Given the description of an element on the screen output the (x, y) to click on. 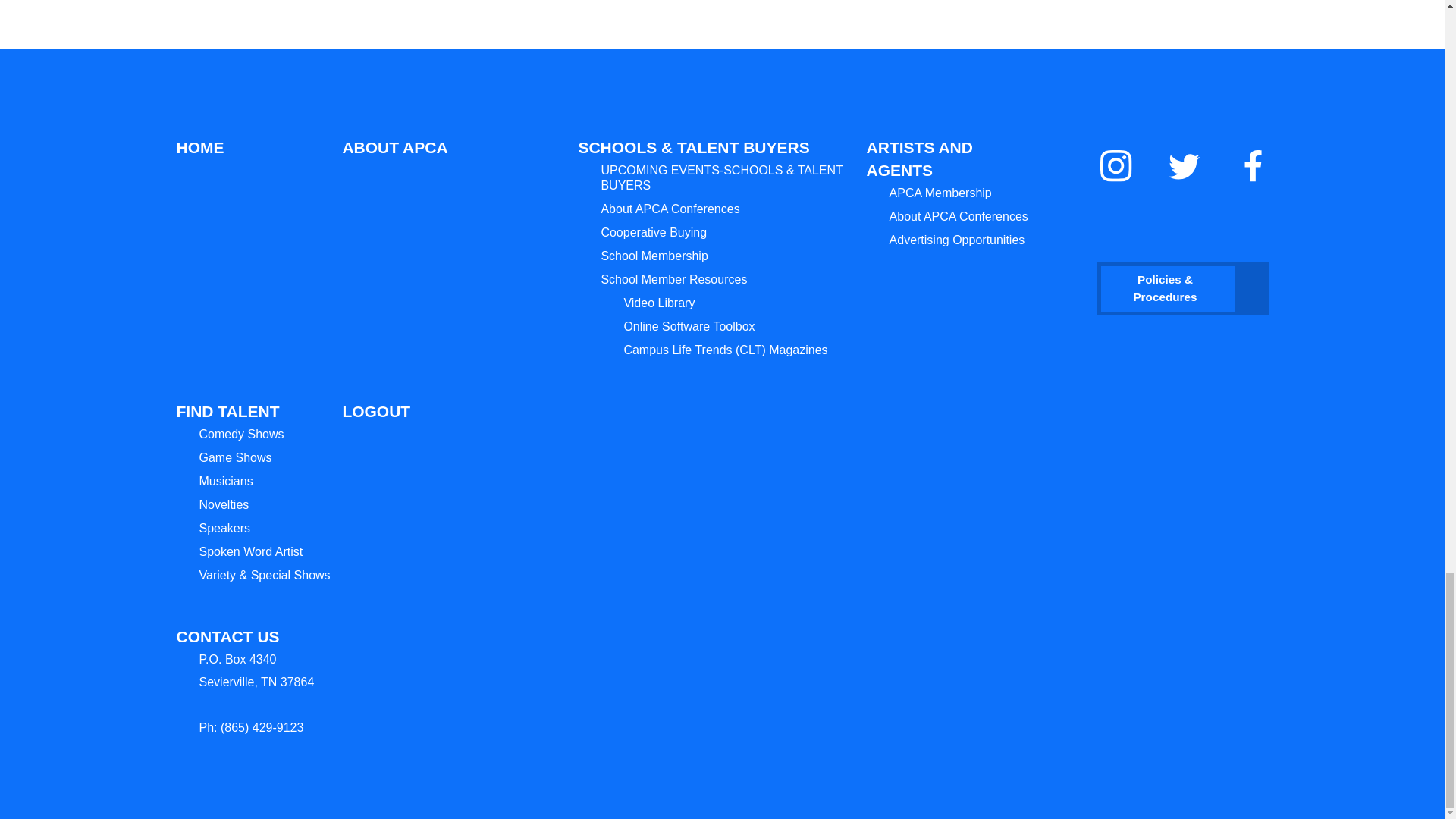
HOME (205, 147)
